Given the description of an element on the screen output the (x, y) to click on. 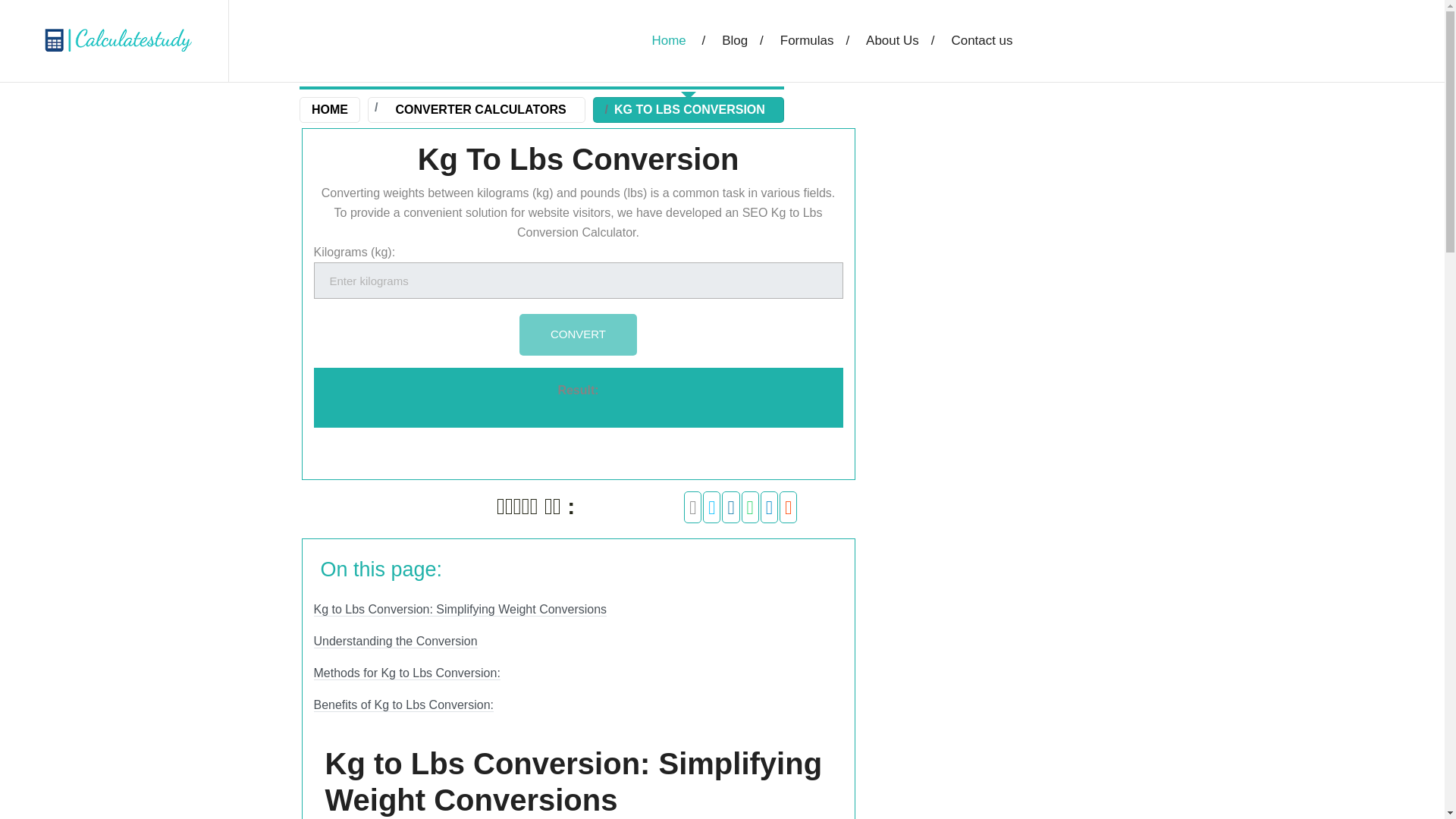
Contact us (991, 40)
HOME (329, 109)
CONVERTER CALCULATORS   (483, 109)
CONVERT (578, 334)
Benefits of Kg to Lbs Conversion: (403, 704)
Understanding the Conversion (395, 641)
Methods for Kg to Lbs Conversion: (407, 673)
Kg to Lbs Conversion: Simplifying Weight Conversions (460, 609)
Advertisement (1010, 703)
